Given the description of an element on the screen output the (x, y) to click on. 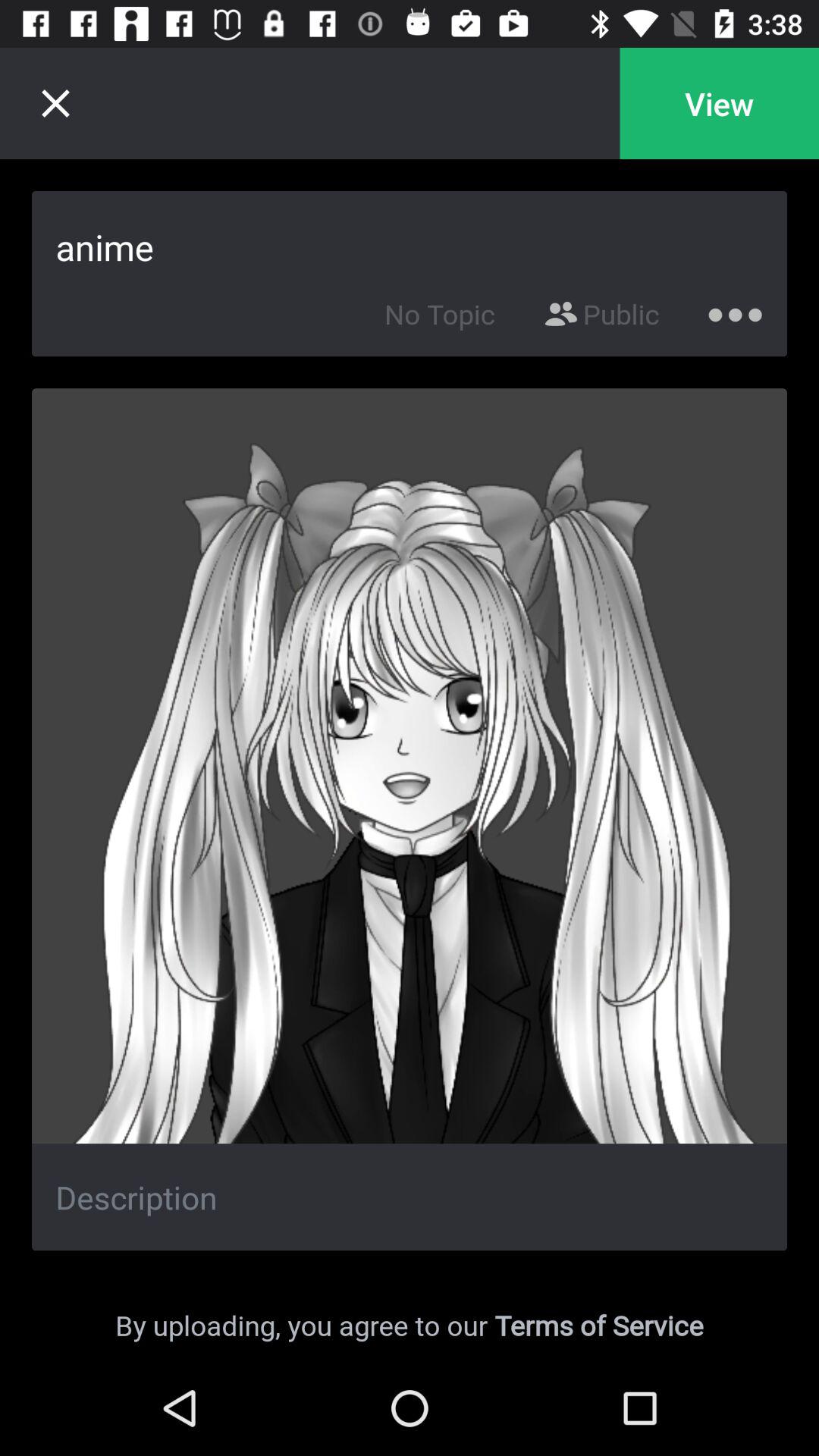
write description (409, 1196)
